Given the description of an element on the screen output the (x, y) to click on. 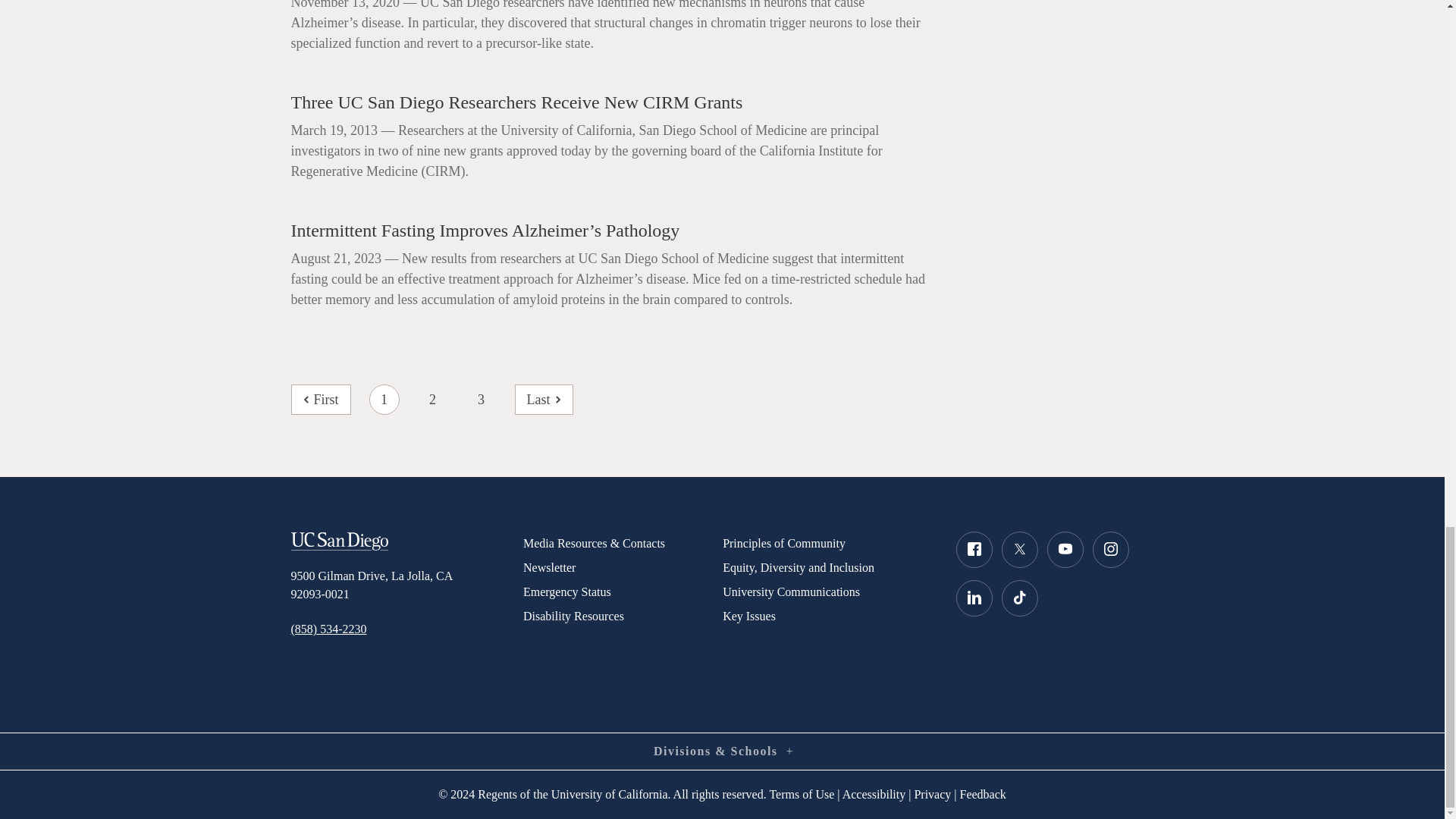
First (320, 399)
Principles of Community (826, 543)
Emergency Status (622, 591)
Accessibility (874, 793)
Newsletter (622, 567)
Disability Resources (622, 616)
University Communications (826, 591)
Newsletter (622, 567)
Terms of Use (801, 793)
Equity, Diversity and Inclusion (826, 567)
Disability Resources (622, 616)
Privacy (932, 793)
Equity, Diversity and Inclusion (826, 567)
Three UC San Diego Researchers Receive New CIRM Grants (612, 102)
Principles of Community (826, 543)
